Given the description of an element on the screen output the (x, y) to click on. 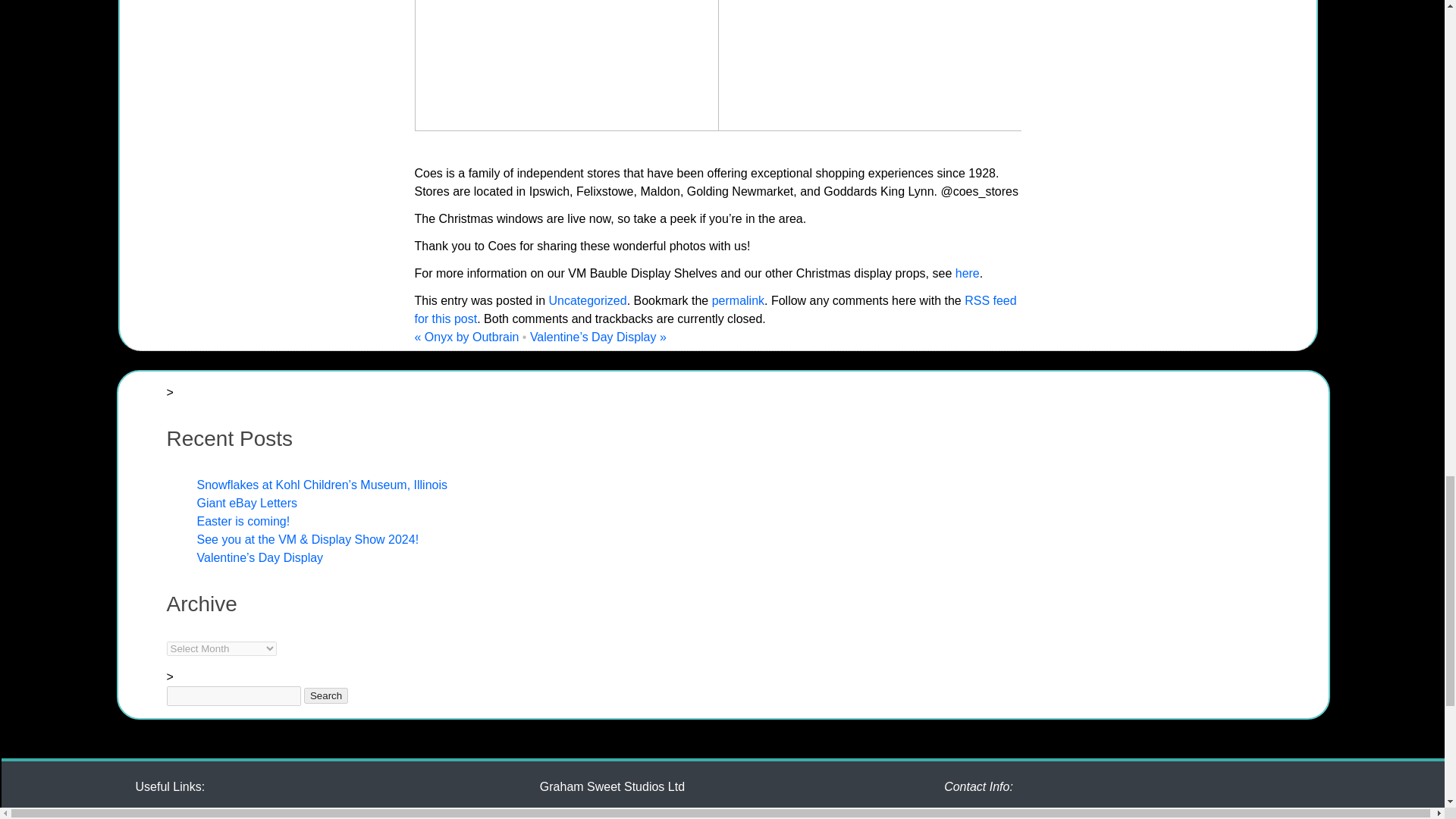
Permalink to Sparkling Festive Displays at Coes (737, 300)
Search (325, 695)
Comments RSS to Sparkling Festive Displays at Coes (714, 309)
